Given the description of an element on the screen output the (x, y) to click on. 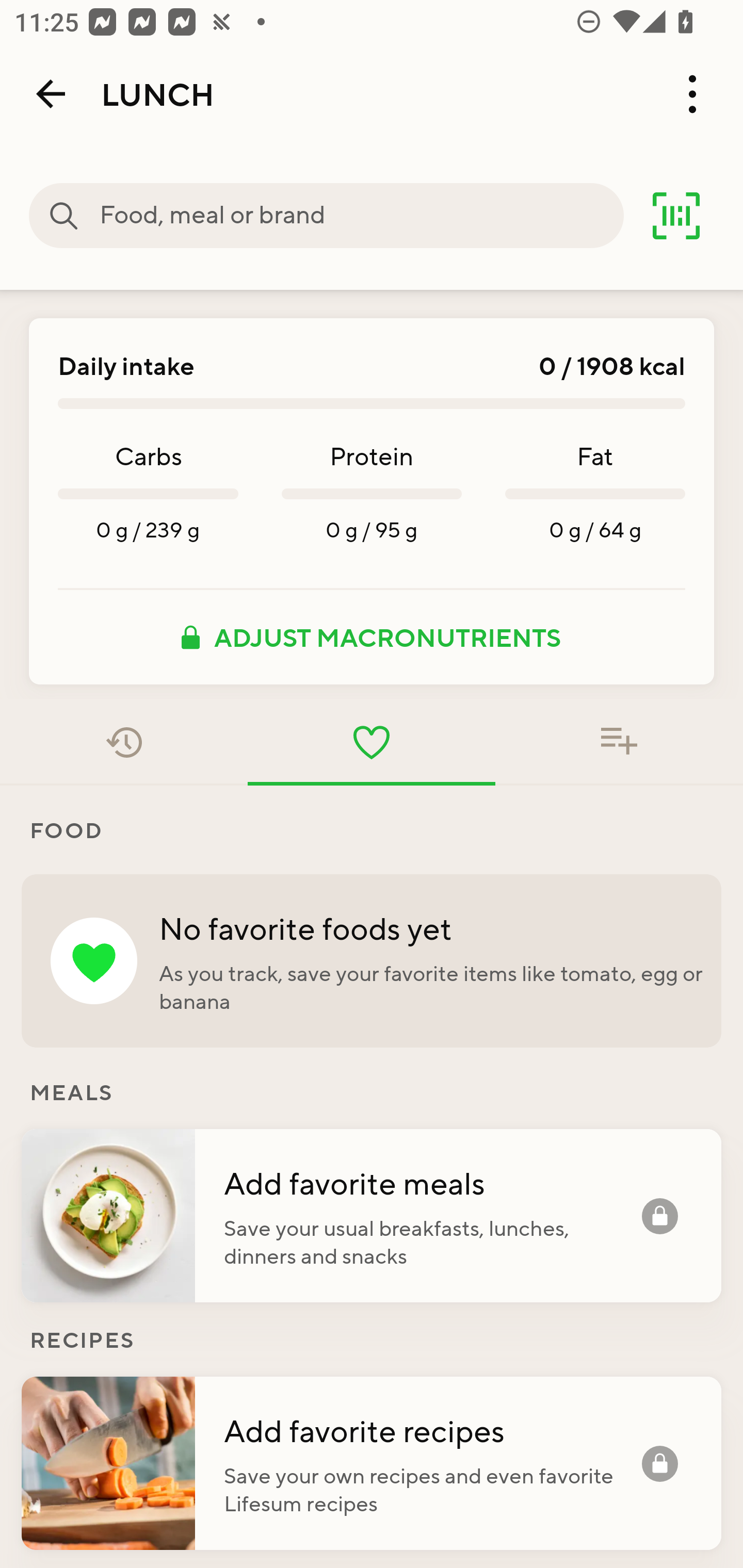
Back (50, 93)
Food, meal or brand (63, 215)
Food, meal or brand (361, 215)
ADJUST MACRONUTRIENTS (371, 637)
Recent (123, 742)
Food added (619, 742)
Add favorite meals (432, 1182)
Add favorite recipes (432, 1429)
